Given the description of an element on the screen output the (x, y) to click on. 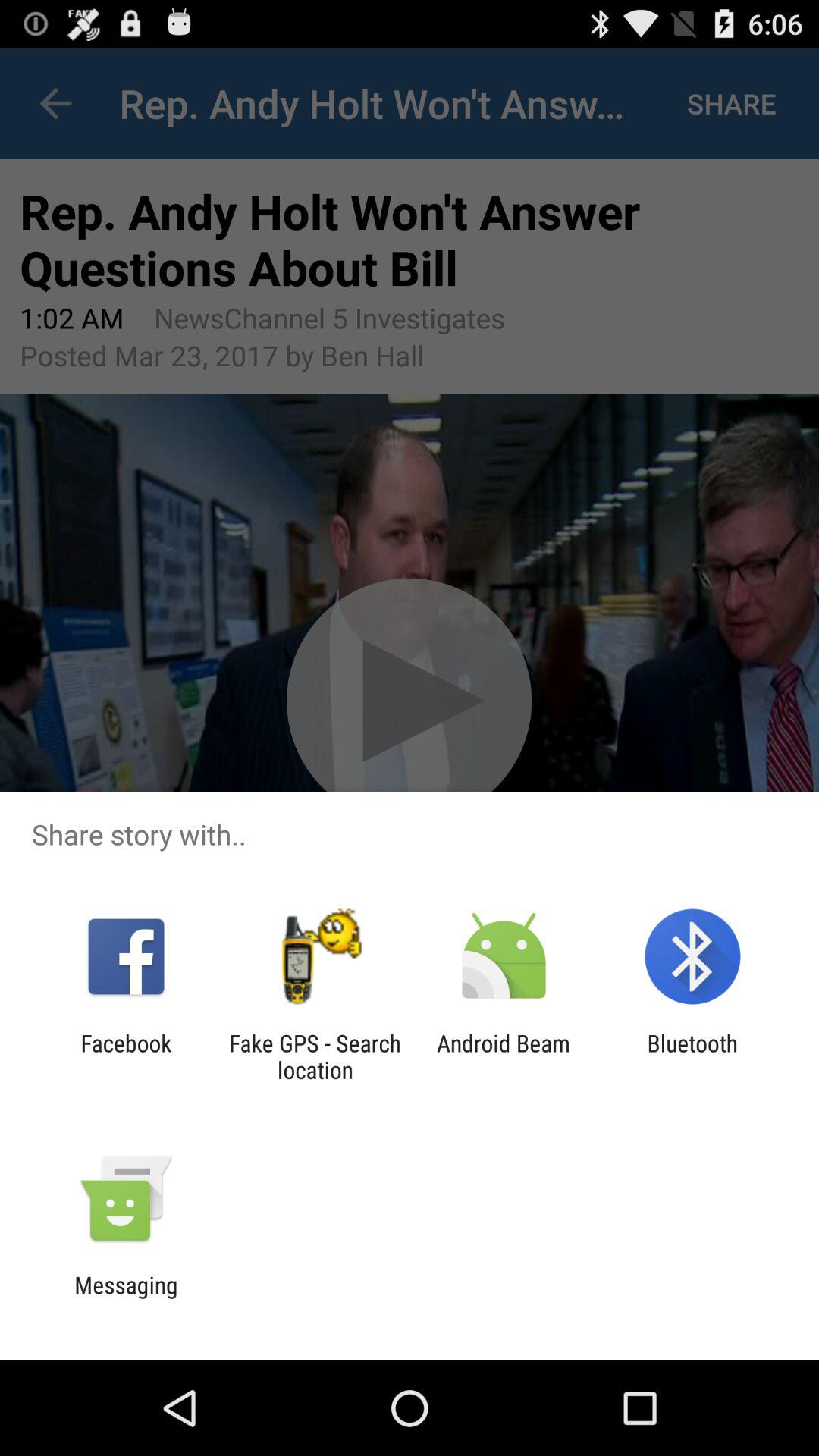
click the app to the left of bluetooth item (503, 1056)
